Given the description of an element on the screen output the (x, y) to click on. 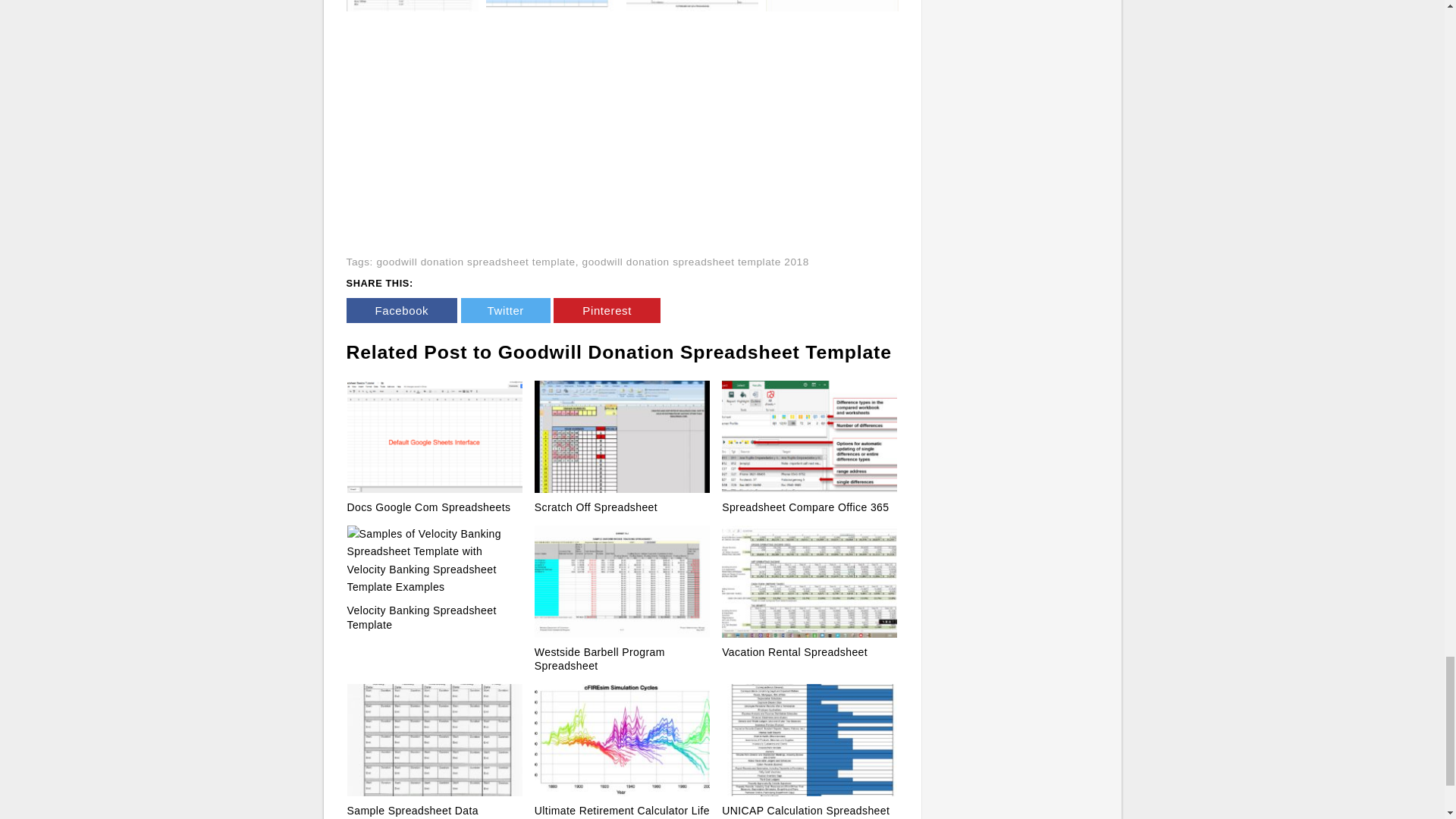
Facebook (401, 310)
goodwill donation spreadsheet template 2018 (695, 261)
goodwill donation spreadsheet template (475, 261)
